Given the description of an element on the screen output the (x, y) to click on. 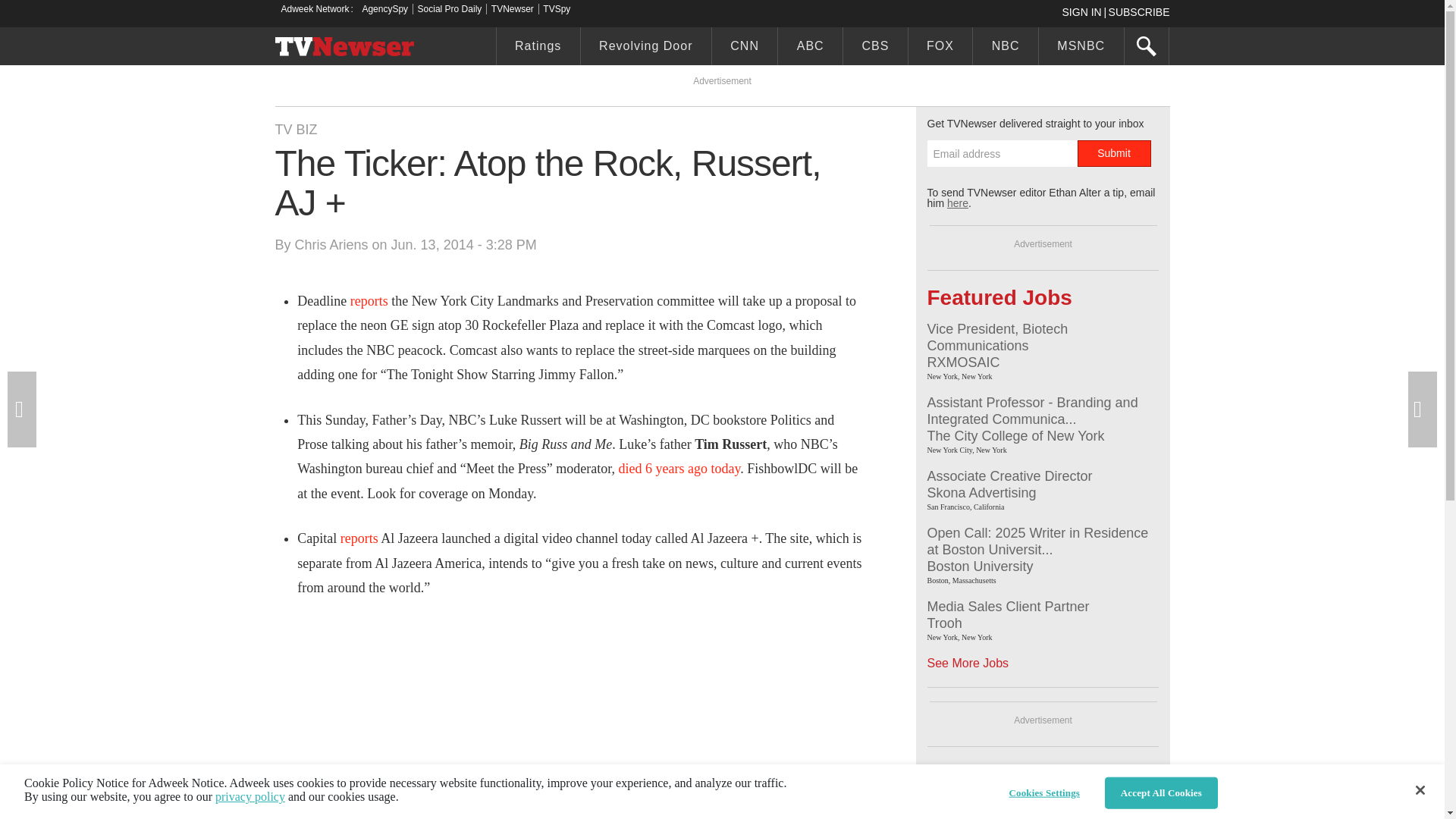
Revolving Door (645, 48)
Covering national television news (344, 47)
Ratings (537, 48)
CBS (875, 48)
FOX (940, 48)
SIGN IN (1084, 11)
MSNBC (1081, 48)
ABC (810, 48)
TVNewser (513, 9)
CNN (744, 48)
NBC (1005, 48)
Adweek Network (316, 9)
SUBSCRIBE (1139, 11)
Submit (1113, 153)
AgencySpy (384, 9)
